Given the description of an element on the screen output the (x, y) to click on. 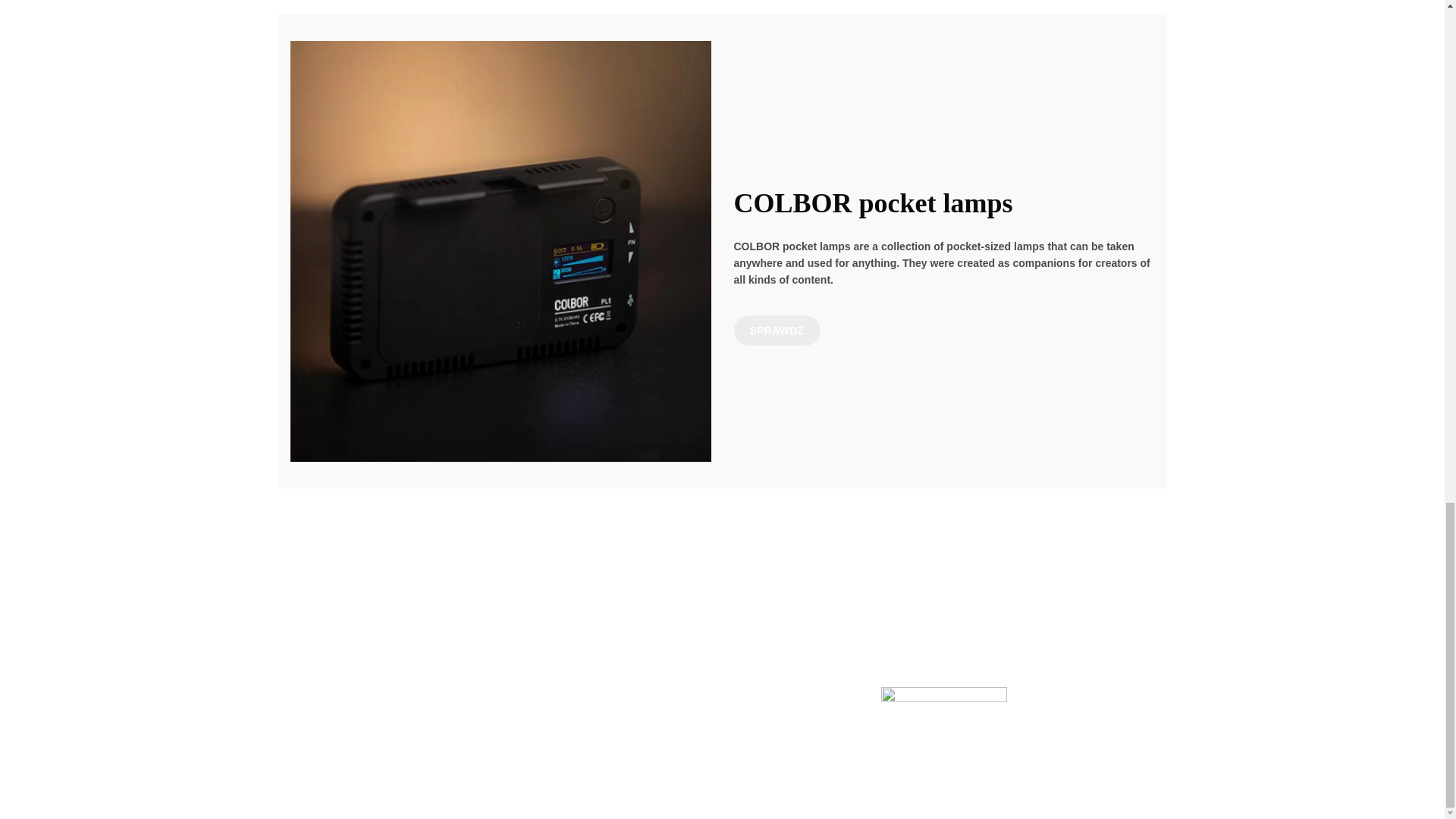
LED panels (777, 330)
LED Panels (318, 629)
